Given the description of an element on the screen output the (x, y) to click on. 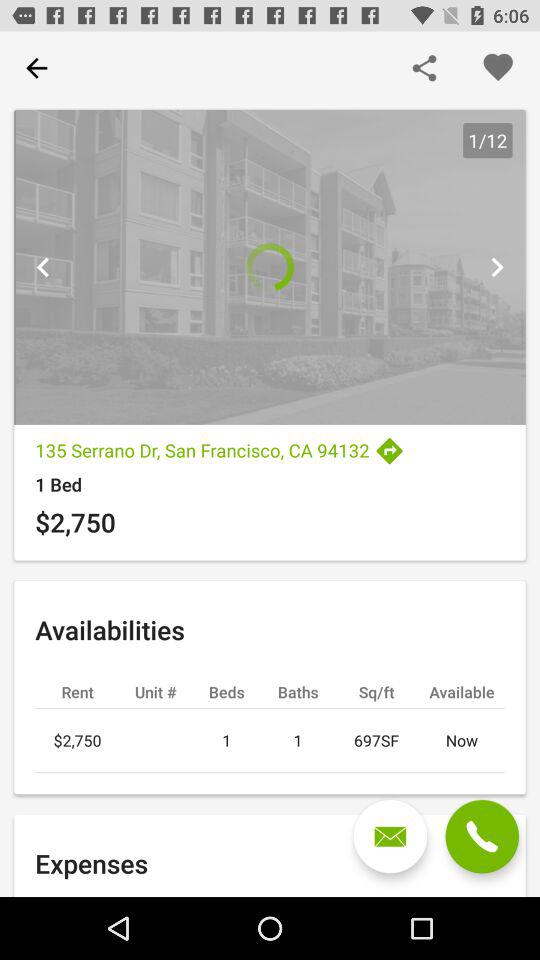
go to next (496, 267)
